Given the description of an element on the screen output the (x, y) to click on. 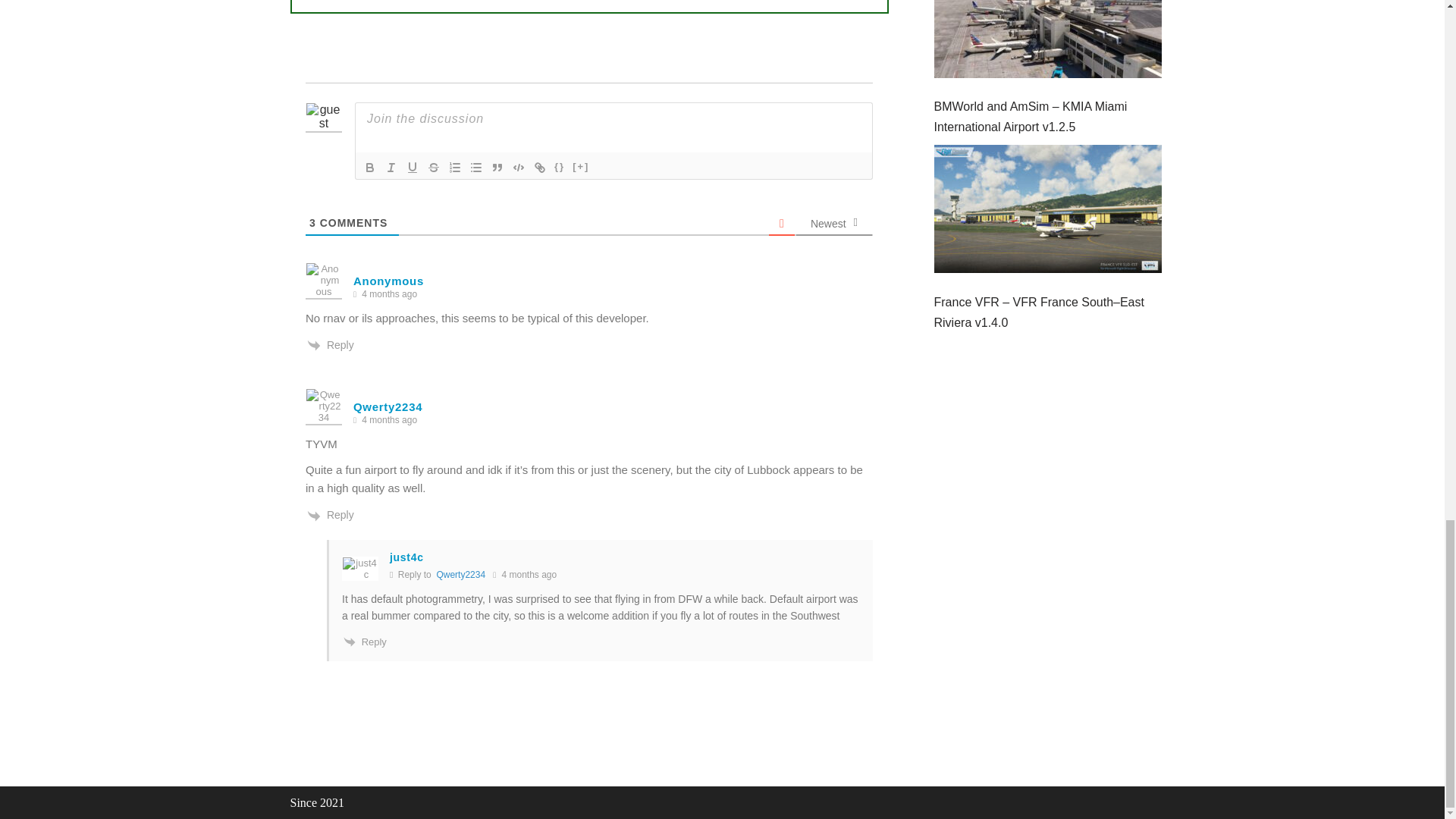
Spoiler (580, 167)
Link (539, 167)
Blockquote (497, 167)
Source Code (559, 167)
Bold (369, 167)
Strike (433, 167)
Ordered List (454, 167)
Code Block (518, 167)
Underline (412, 167)
Italic (390, 167)
Unordered List (475, 167)
